Given the description of an element on the screen output the (x, y) to click on. 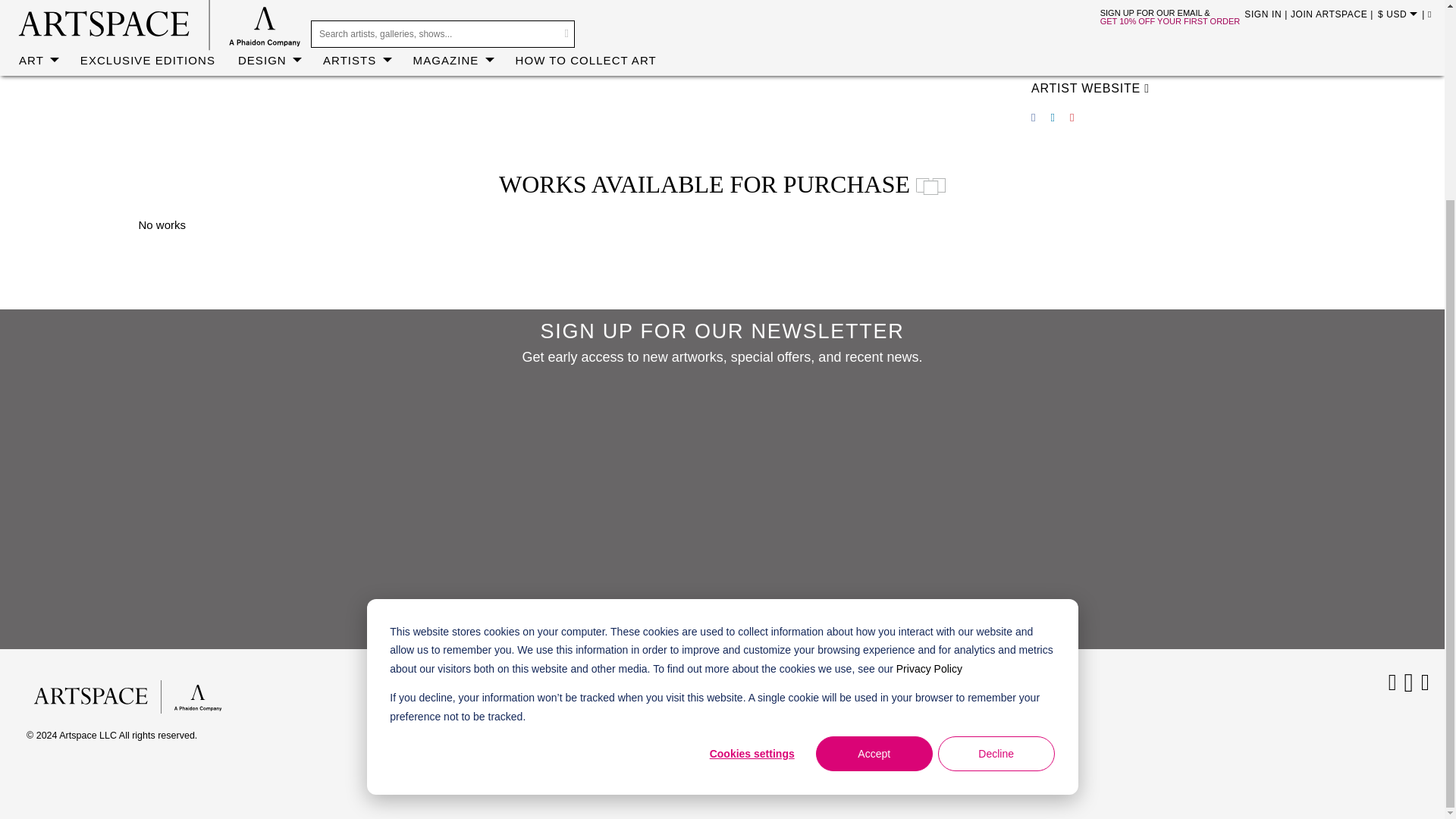
Slideshow View Works to Scale (929, 186)
Form 0 (721, 503)
